Given the description of an element on the screen output the (x, y) to click on. 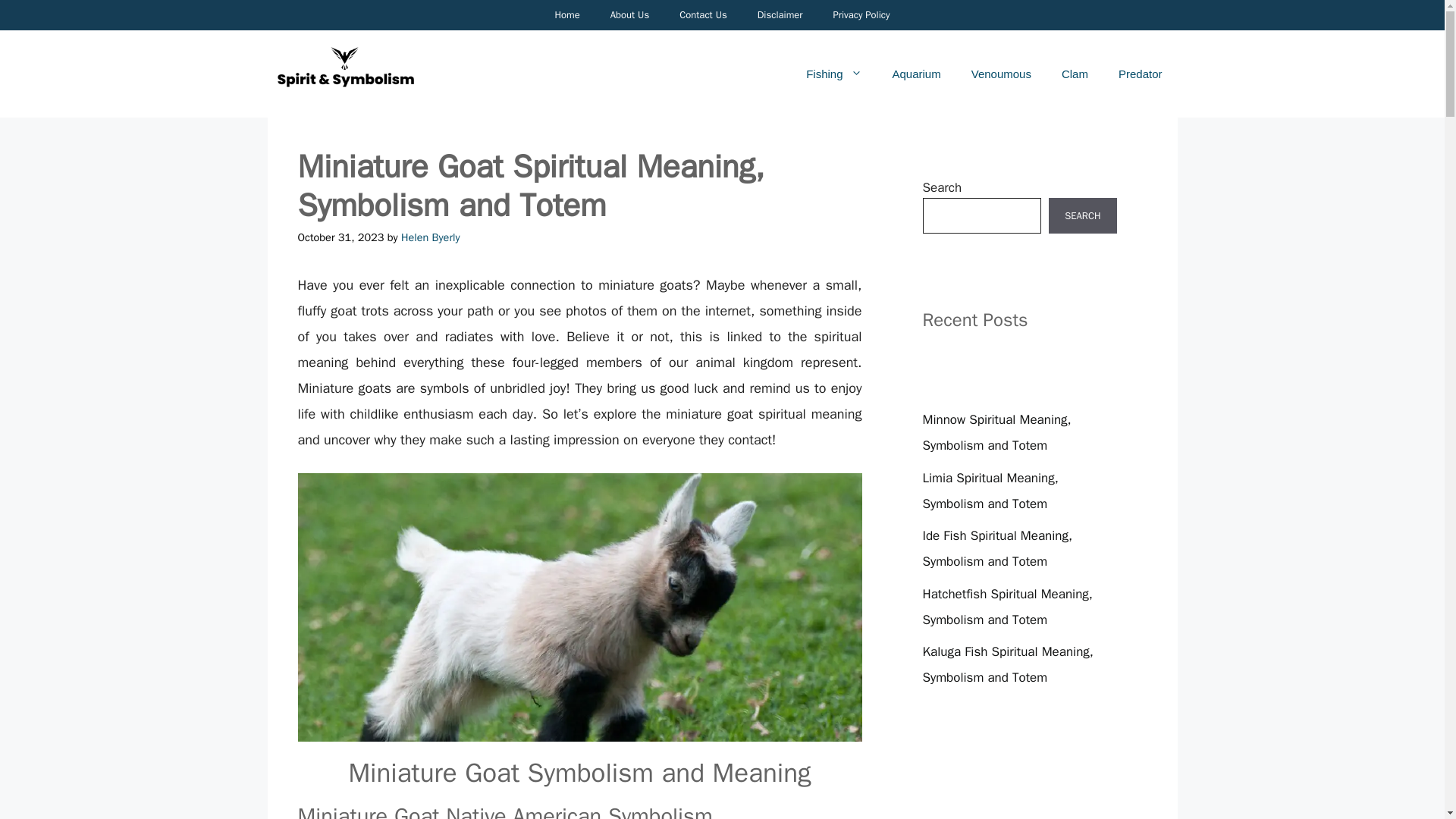
View all posts by Helen Byerly (430, 237)
SEARCH (1082, 216)
Limia Spiritual Meaning, Symbolism and Totem (989, 490)
Hatchetfish Spiritual Meaning, Symbolism and Totem (1006, 607)
Minnow Spiritual Meaning, Symbolism and Totem (995, 432)
Home (566, 15)
Ide Fish Spiritual Meaning, Symbolism and Totem (996, 548)
Clam (1074, 74)
Contact Us (702, 15)
Venoumous (1001, 74)
